Given the description of an element on the screen output the (x, y) to click on. 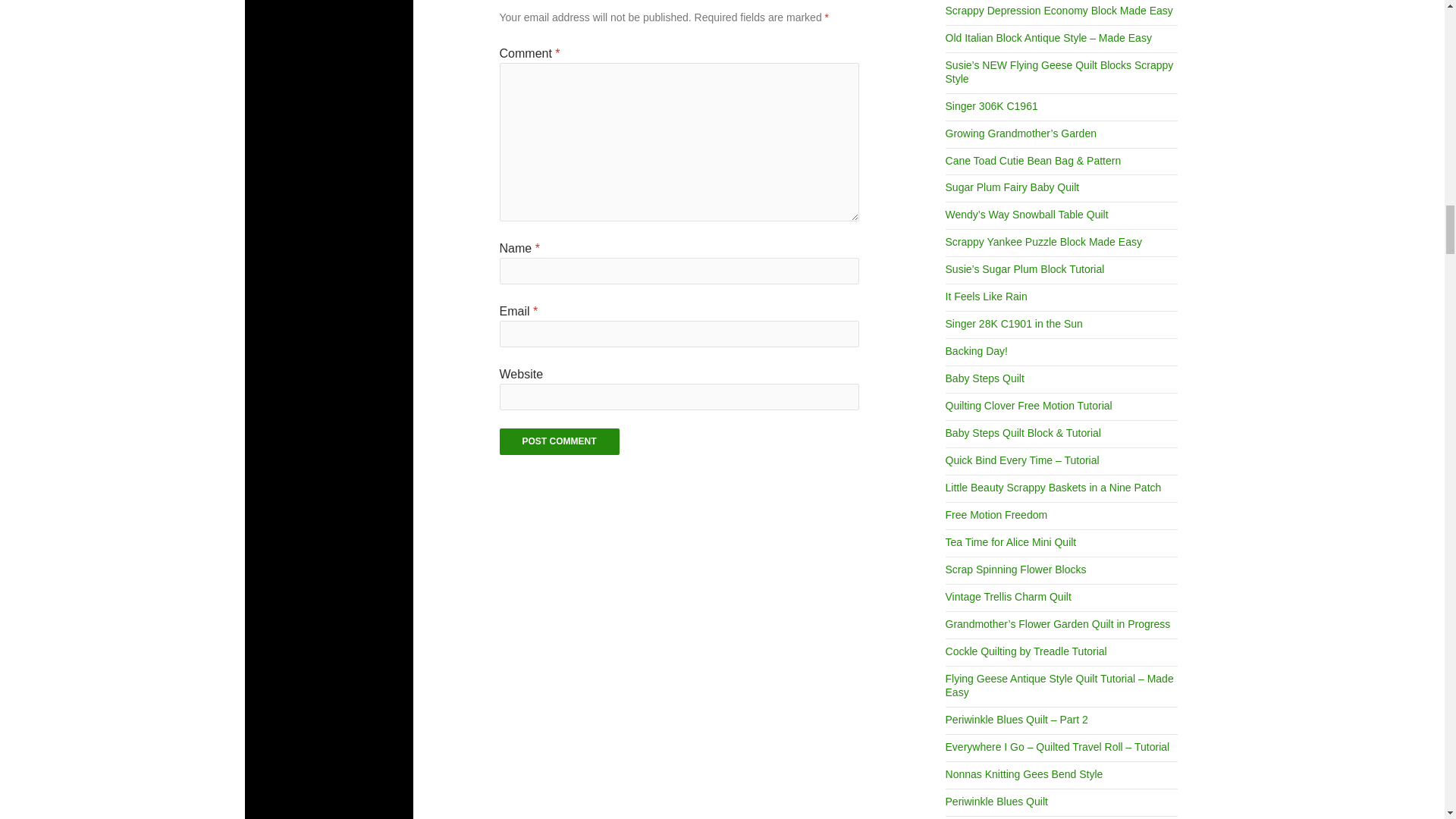
Post Comment (559, 440)
Post Comment (559, 440)
